Given the description of an element on the screen output the (x, y) to click on. 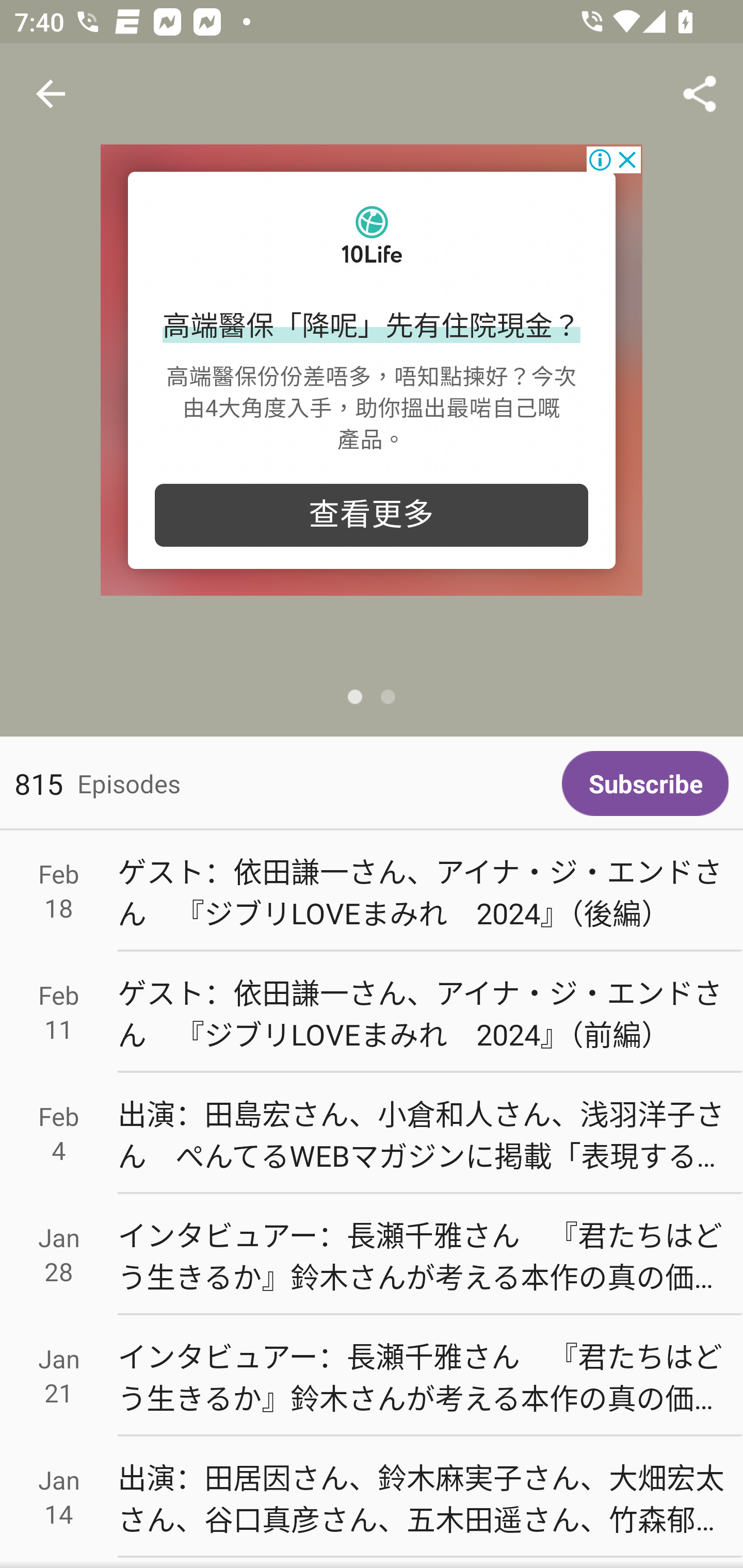
Navigate up (50, 93)
Share... (699, 93)
高端醫保「降呢」先有住院現金？ (371, 327)
查看更多 (371, 514)
Subscribe (644, 783)
